Given the description of an element on the screen output the (x, y) to click on. 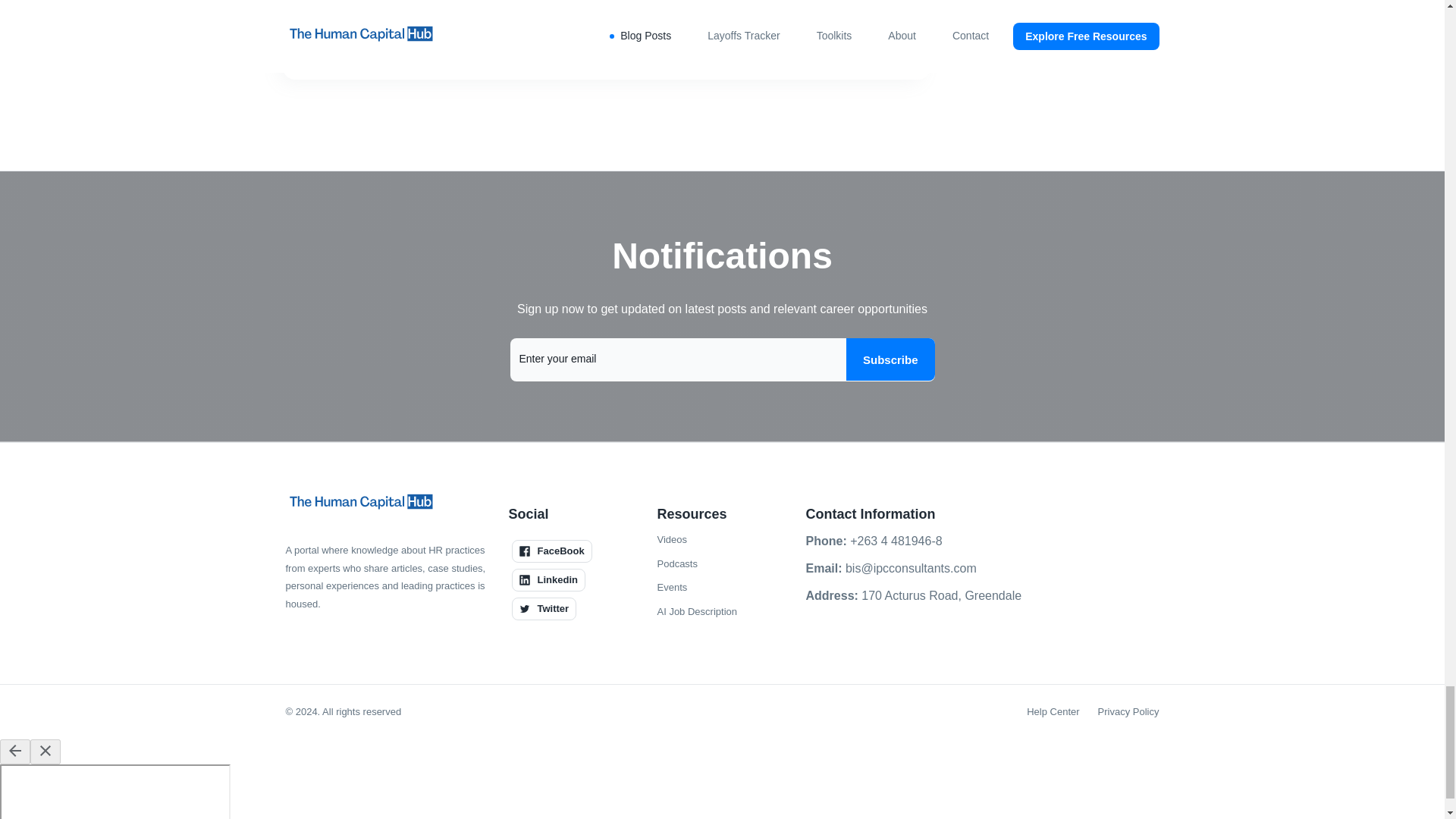
Podcasts (676, 564)
Help Center (1052, 711)
FaceBook (551, 550)
AI Job Description (696, 611)
Linkedin (548, 579)
Privacy Policy (1127, 711)
Twitter (543, 608)
Videos (671, 539)
Events (671, 587)
Subscribe (889, 359)
